Given the description of an element on the screen output the (x, y) to click on. 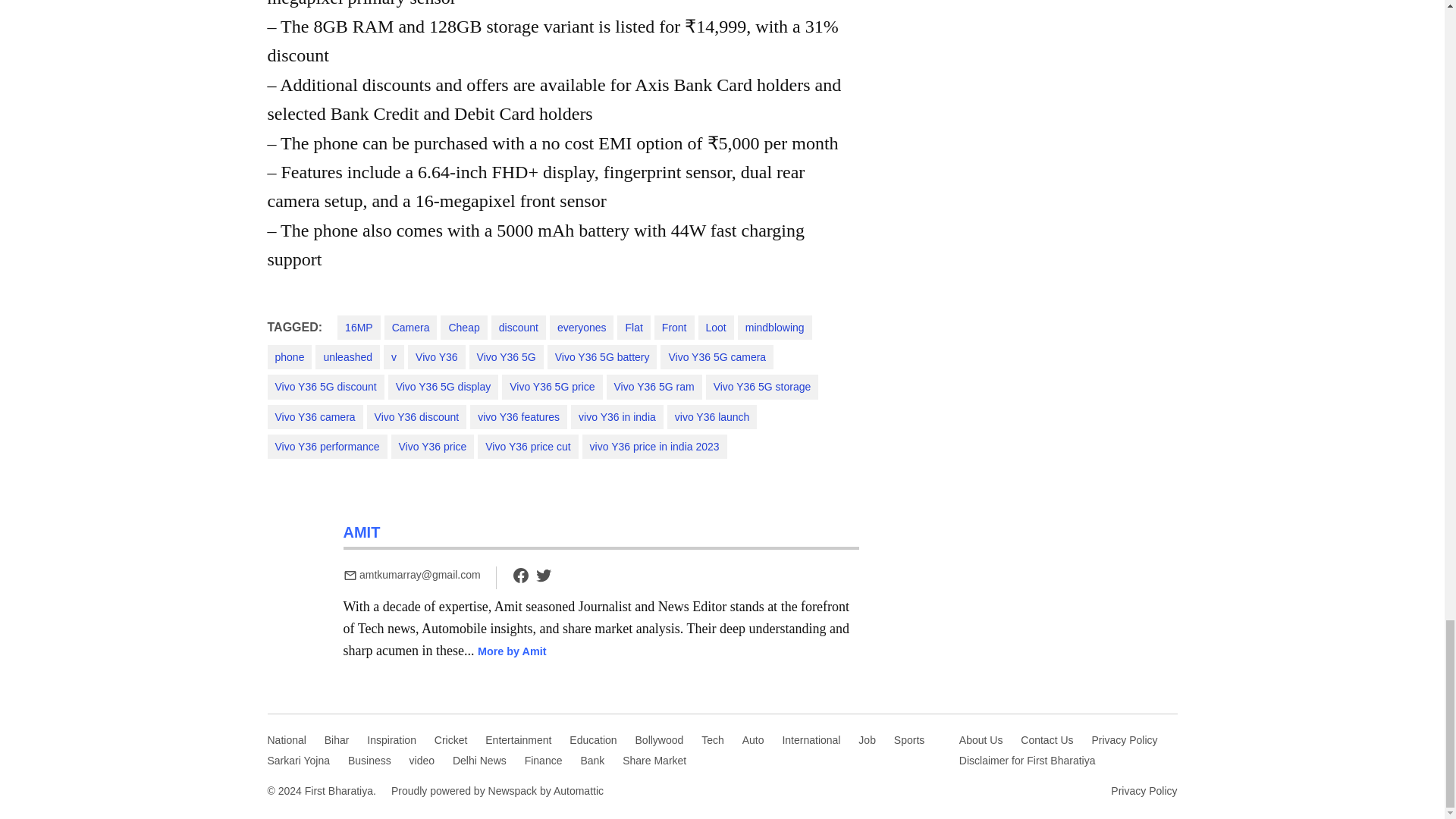
Camera (411, 327)
phone (288, 356)
vivo Y36 features (518, 416)
mindblowing (775, 327)
discount (519, 327)
Vivo Y36 5G ram (654, 386)
16MP (358, 327)
Cheap (463, 327)
Vivo Y36 5G storage (762, 386)
twitter (543, 575)
